Given the description of an element on the screen output the (x, y) to click on. 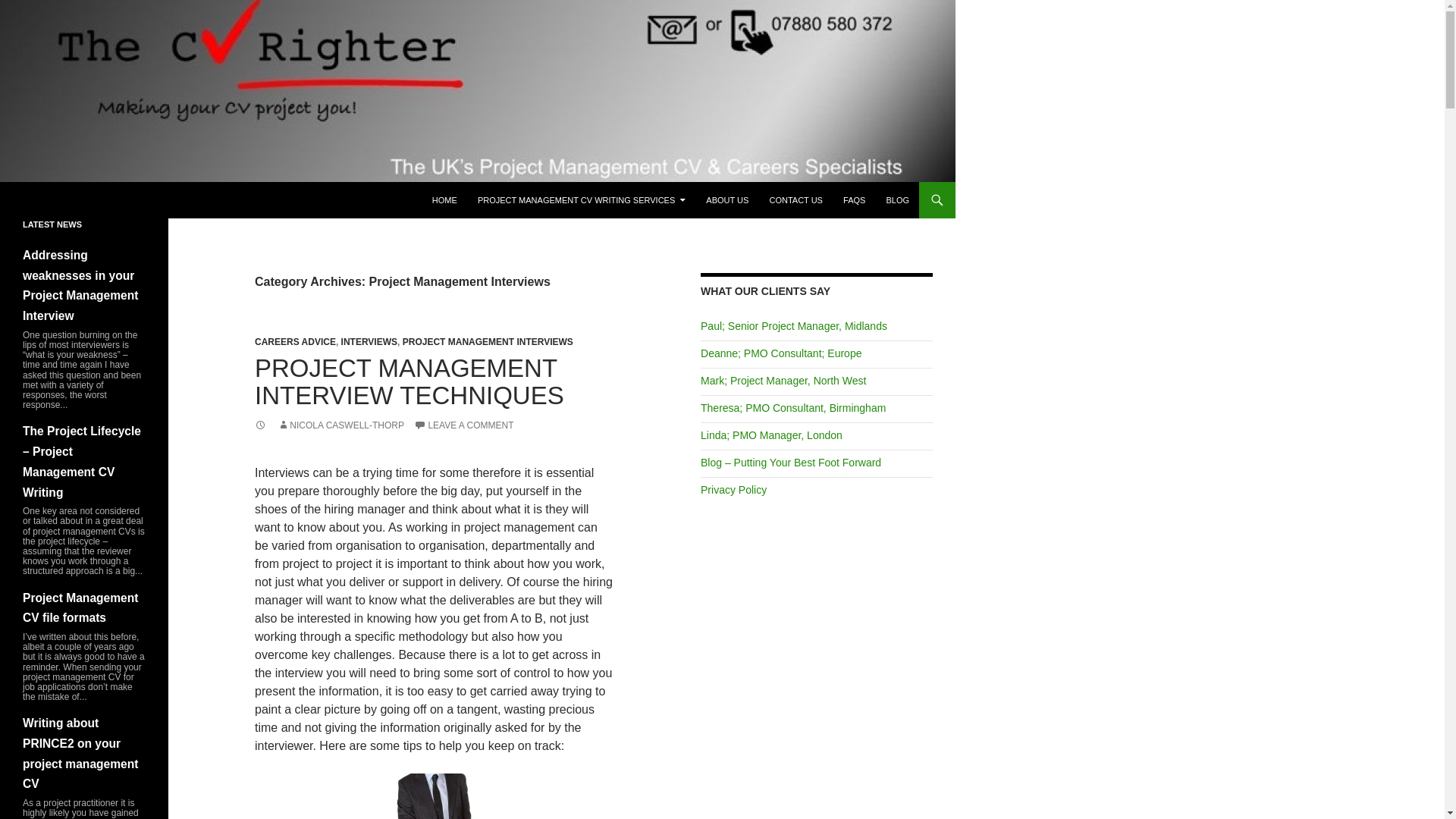
FAQS (854, 199)
CONTACT US (795, 199)
PROJECT MANAGEMENT INTERVIEW TECHNIQUES (409, 381)
CAREERS ADVICE (295, 341)
LEAVE A COMMENT (463, 425)
HOME (444, 199)
ABOUT US (727, 199)
INTERVIEWS (368, 341)
